Given the description of an element on the screen output the (x, y) to click on. 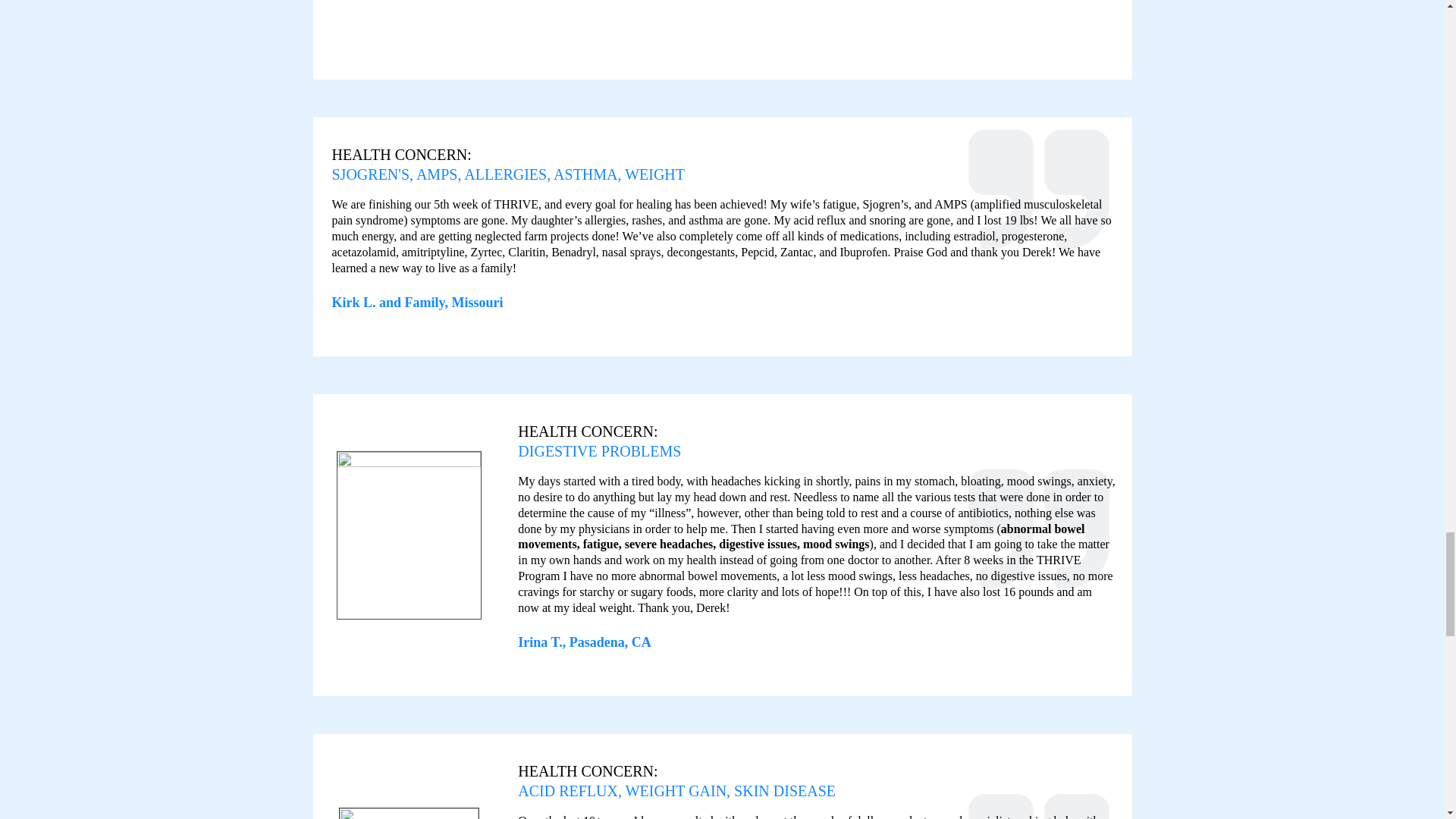
quote-right (1038, 194)
quote-right (1038, 534)
Jadine K (409, 813)
Screen Shot 2020-06-30 at 2.44.19 PM (714, 17)
quote-right (1038, 800)
